Given the description of an element on the screen output the (x, y) to click on. 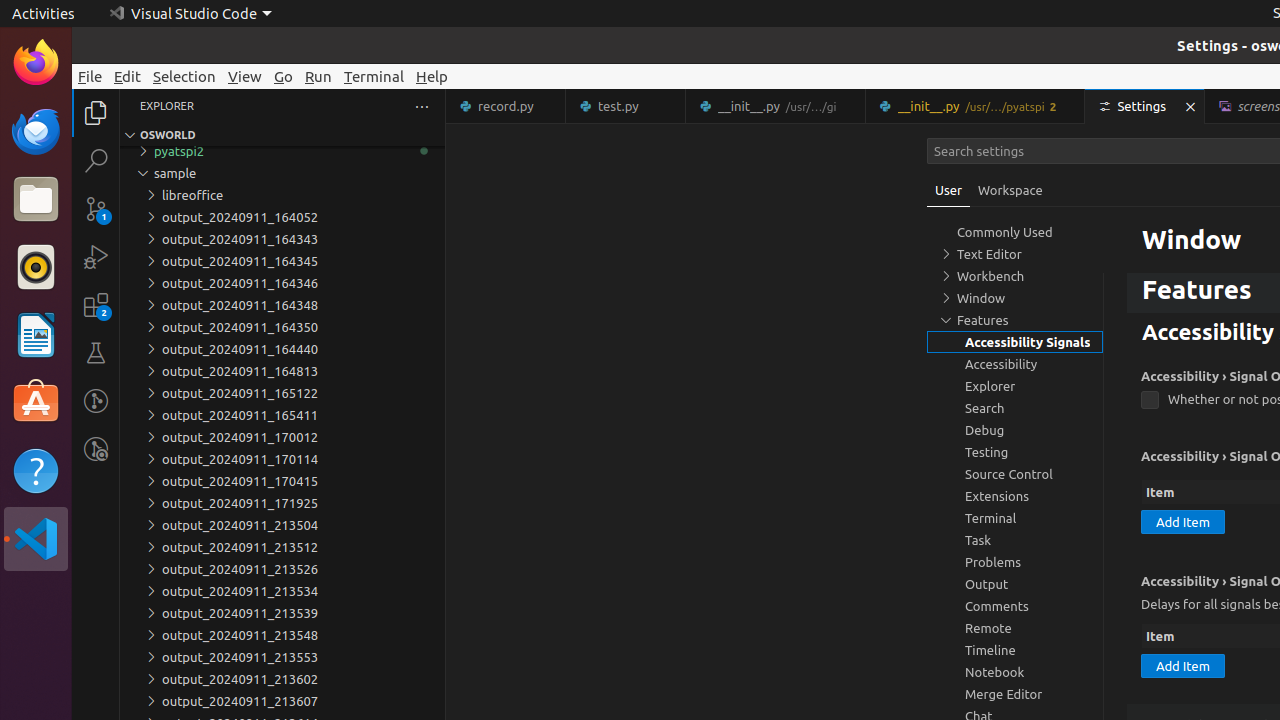
Source Control, group Element type: tree-item (1015, 474)
libreoffice Element type: tree-item (282, 195)
Merge Editor, group Element type: tree-item (1015, 694)
output_20240911_164440 Element type: tree-item (282, 349)
